Given the description of an element on the screen output the (x, y) to click on. 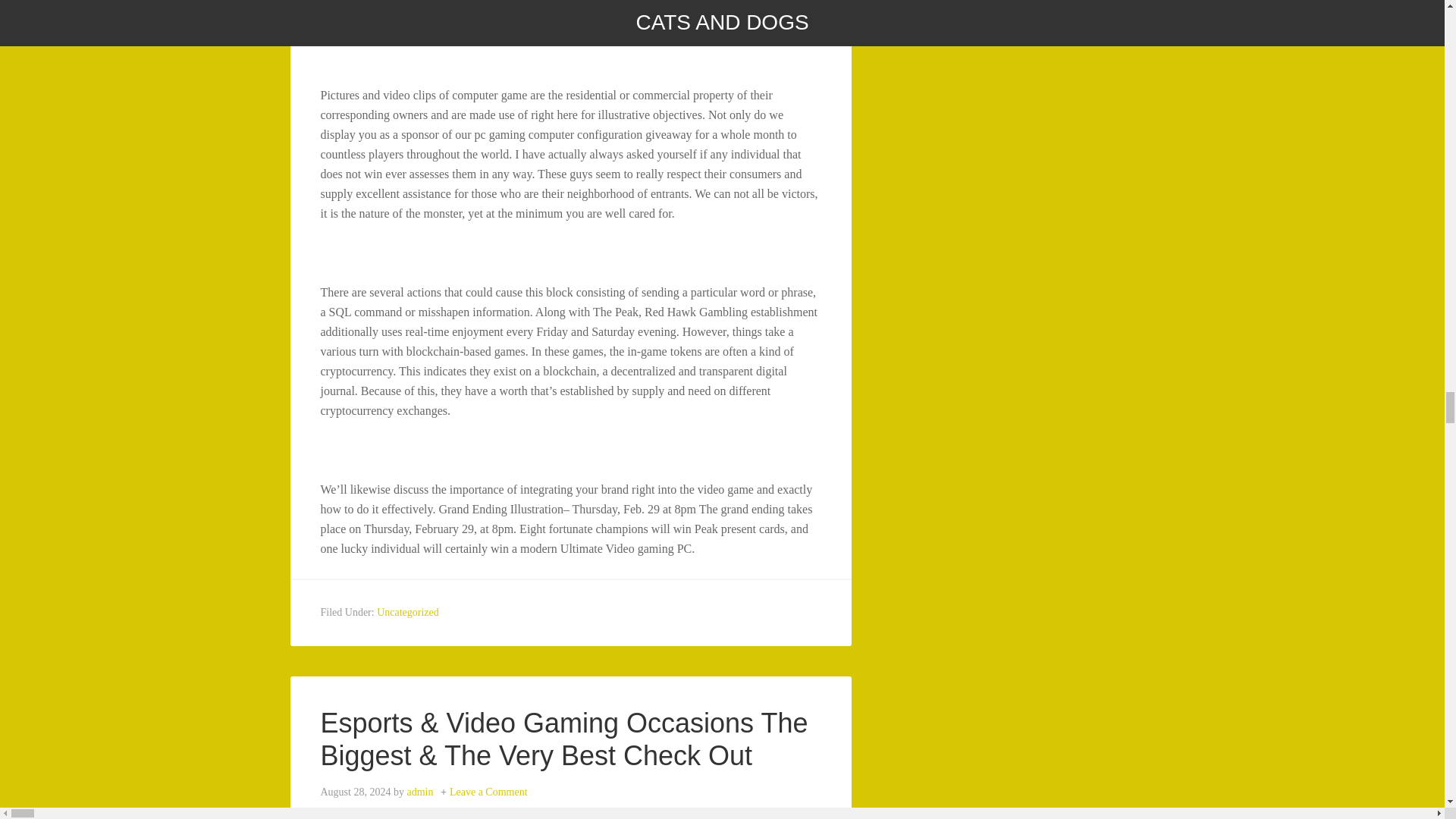
admin (419, 791)
Uncategorized (408, 612)
Leave a Comment (488, 791)
